Given the description of an element on the screen output the (x, y) to click on. 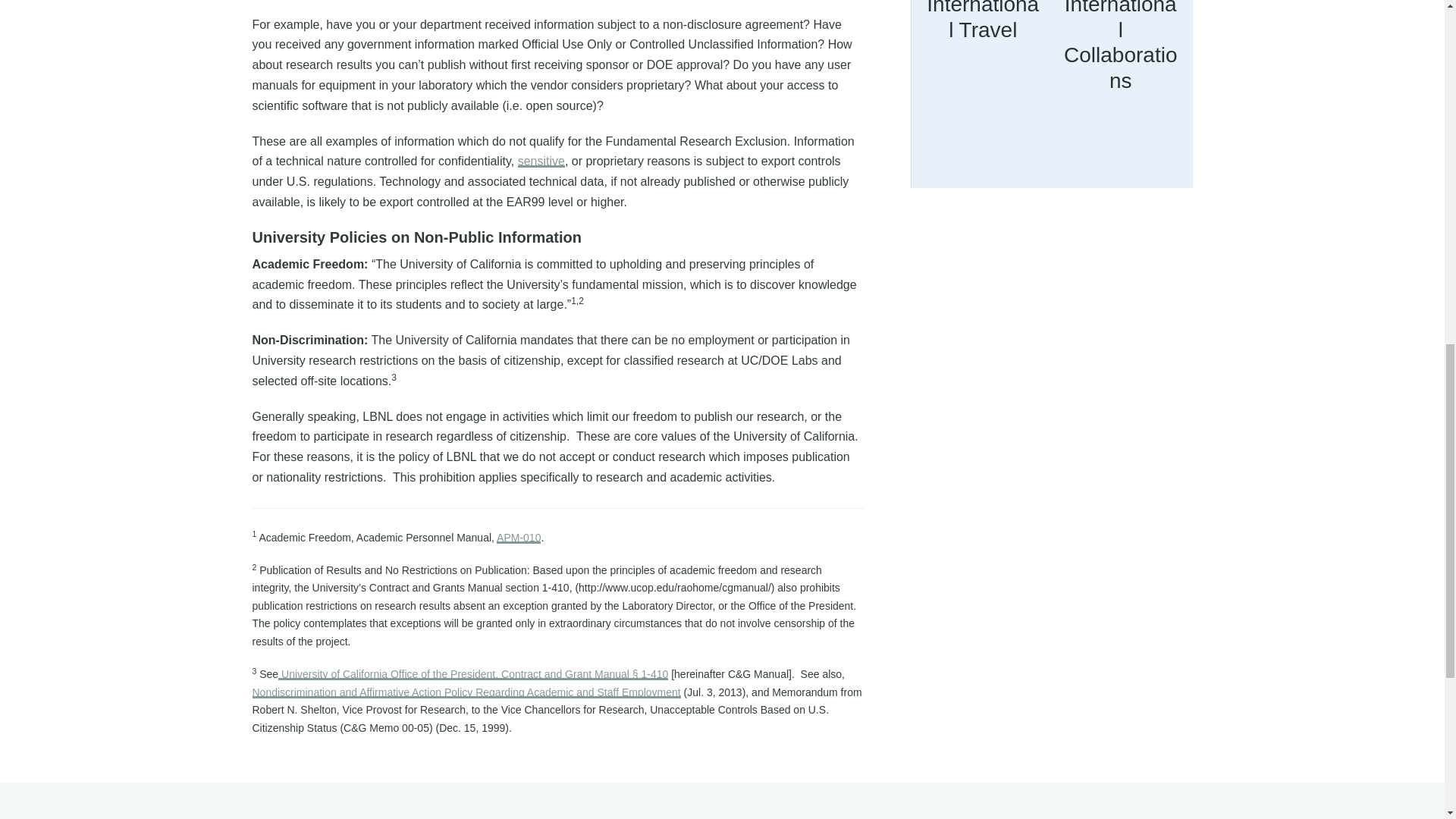
APM-010 (518, 537)
International Collaborations (1120, 46)
sensitive (541, 160)
International Travel (982, 20)
